Given the description of an element on the screen output the (x, y) to click on. 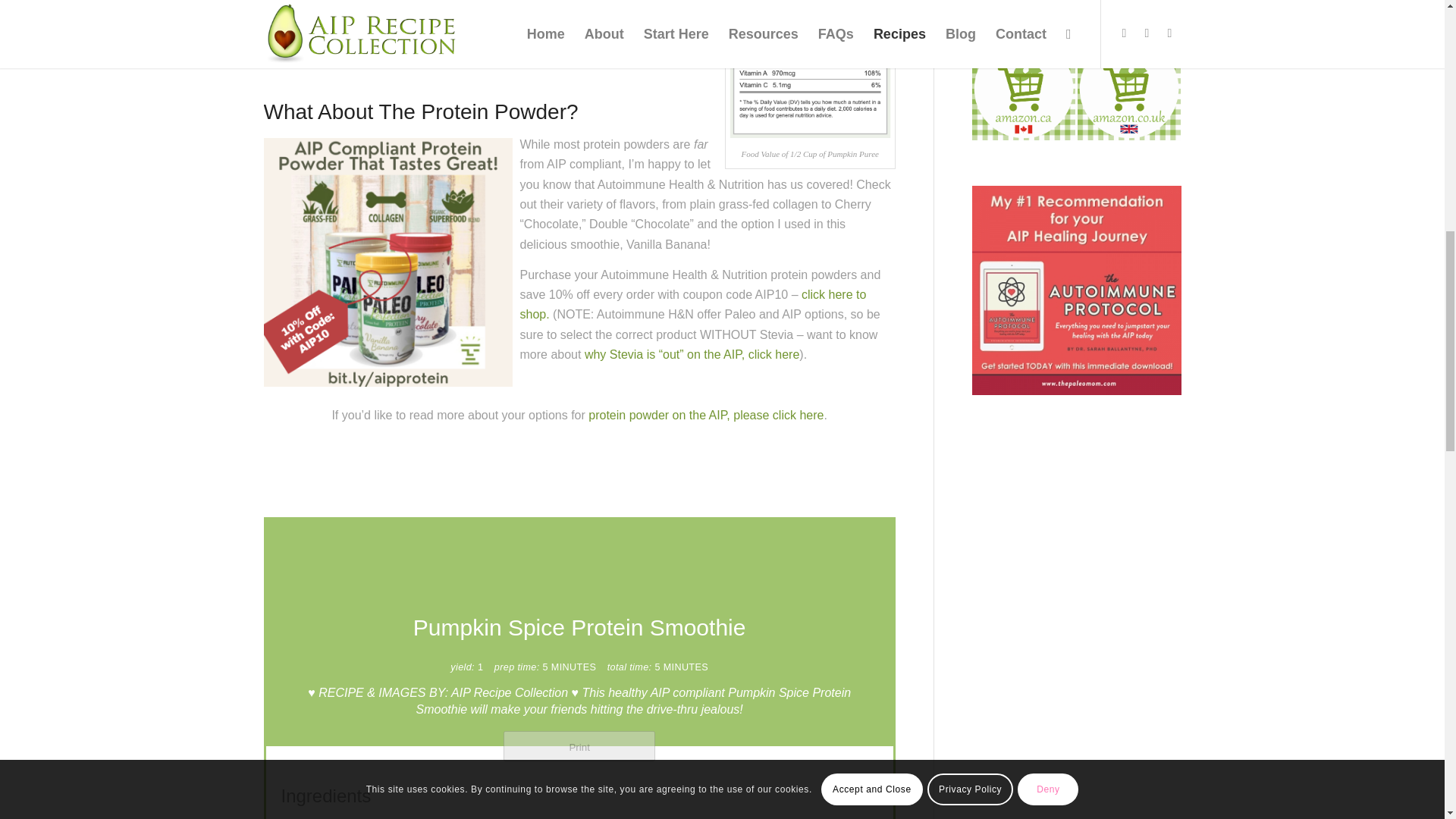
click here to shop. (692, 304)
